Given the description of an element on the screen output the (x, y) to click on. 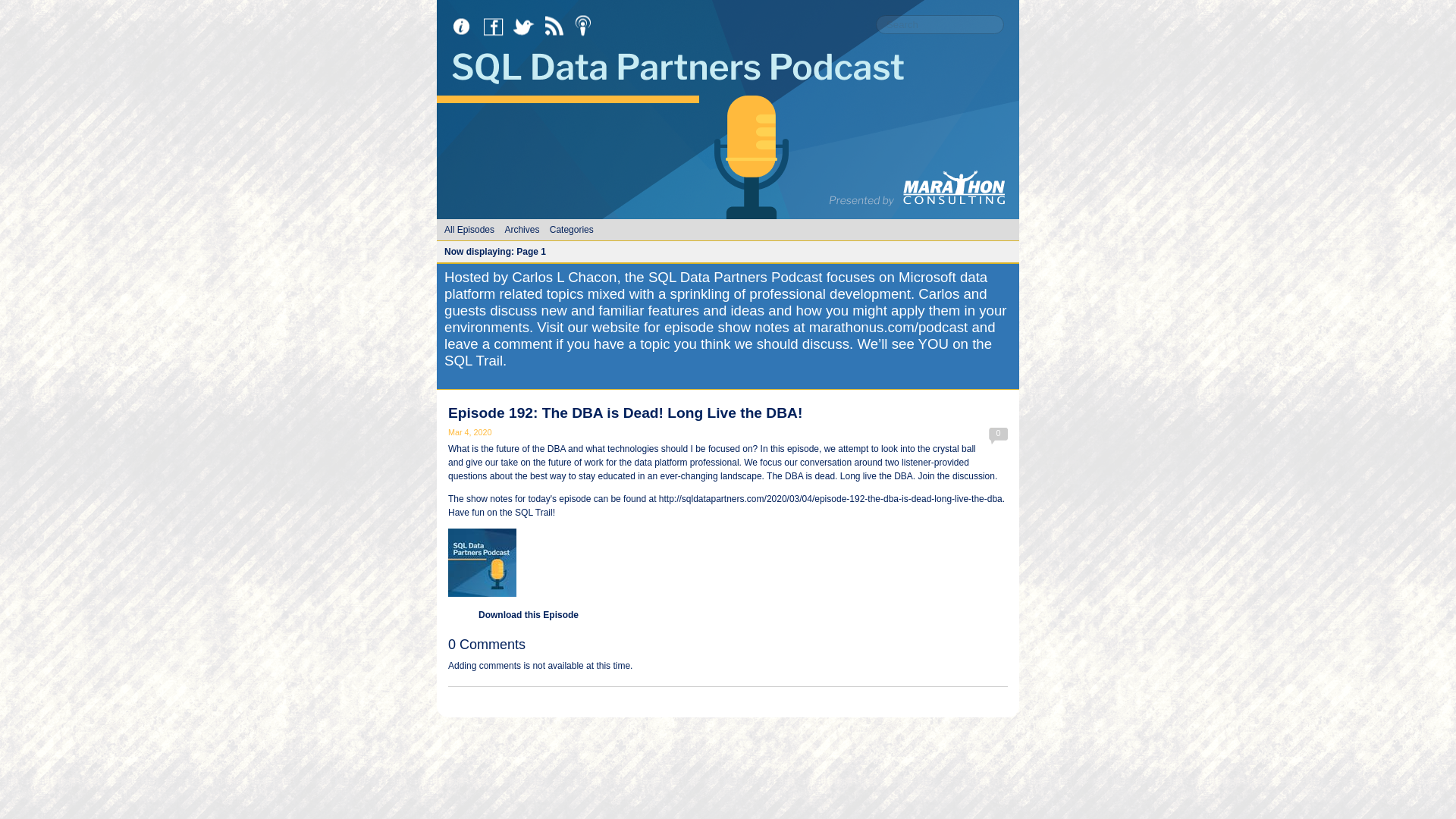
Twitter (527, 26)
Facebook (496, 26)
Subscribe in Apple Podcasts (588, 26)
RSS Feed (558, 26)
Libsyn Player (727, 562)
